Given the description of an element on the screen output the (x, y) to click on. 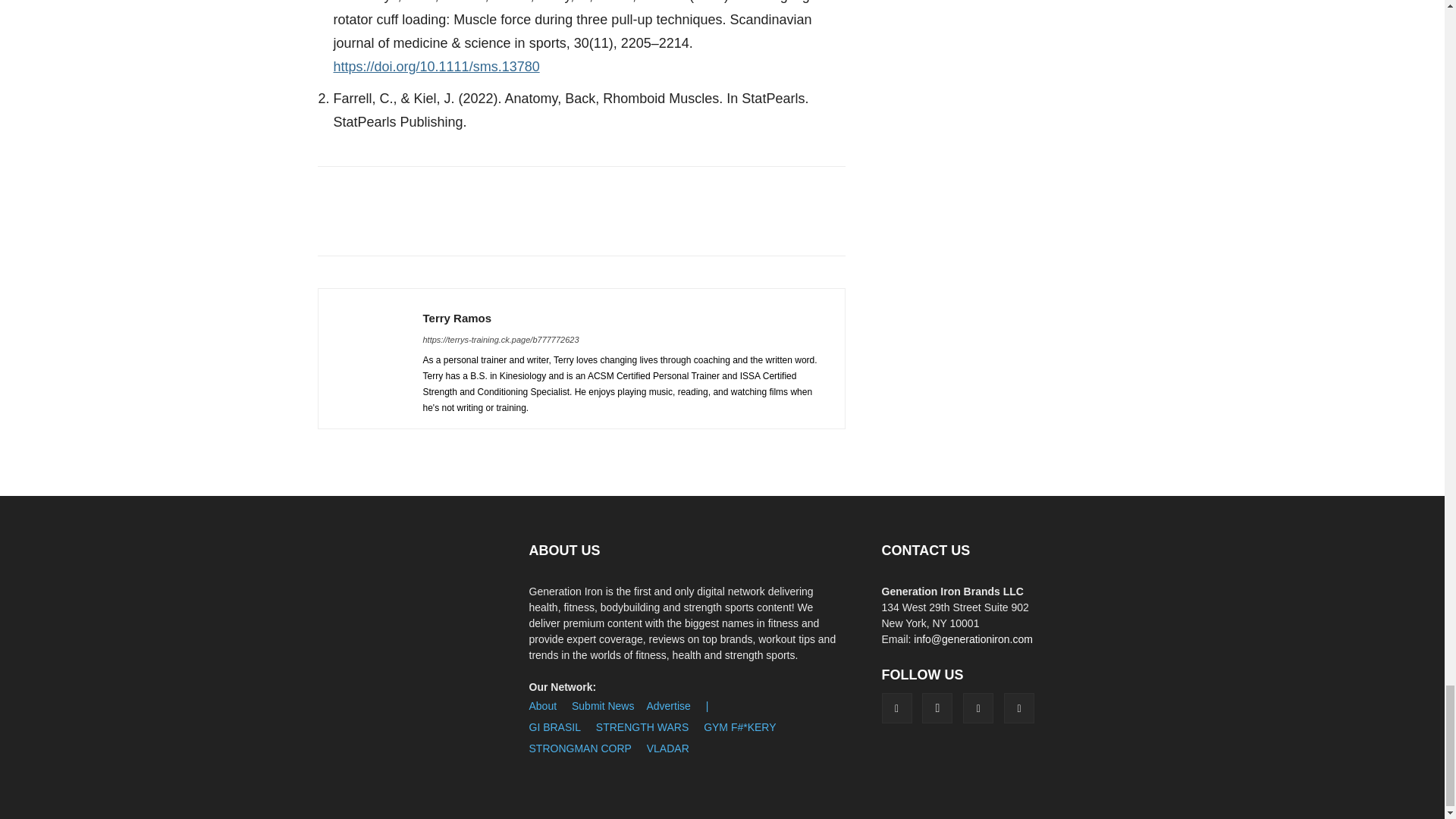
bottomFacebookLike (430, 190)
